Given the description of an element on the screen output the (x, y) to click on. 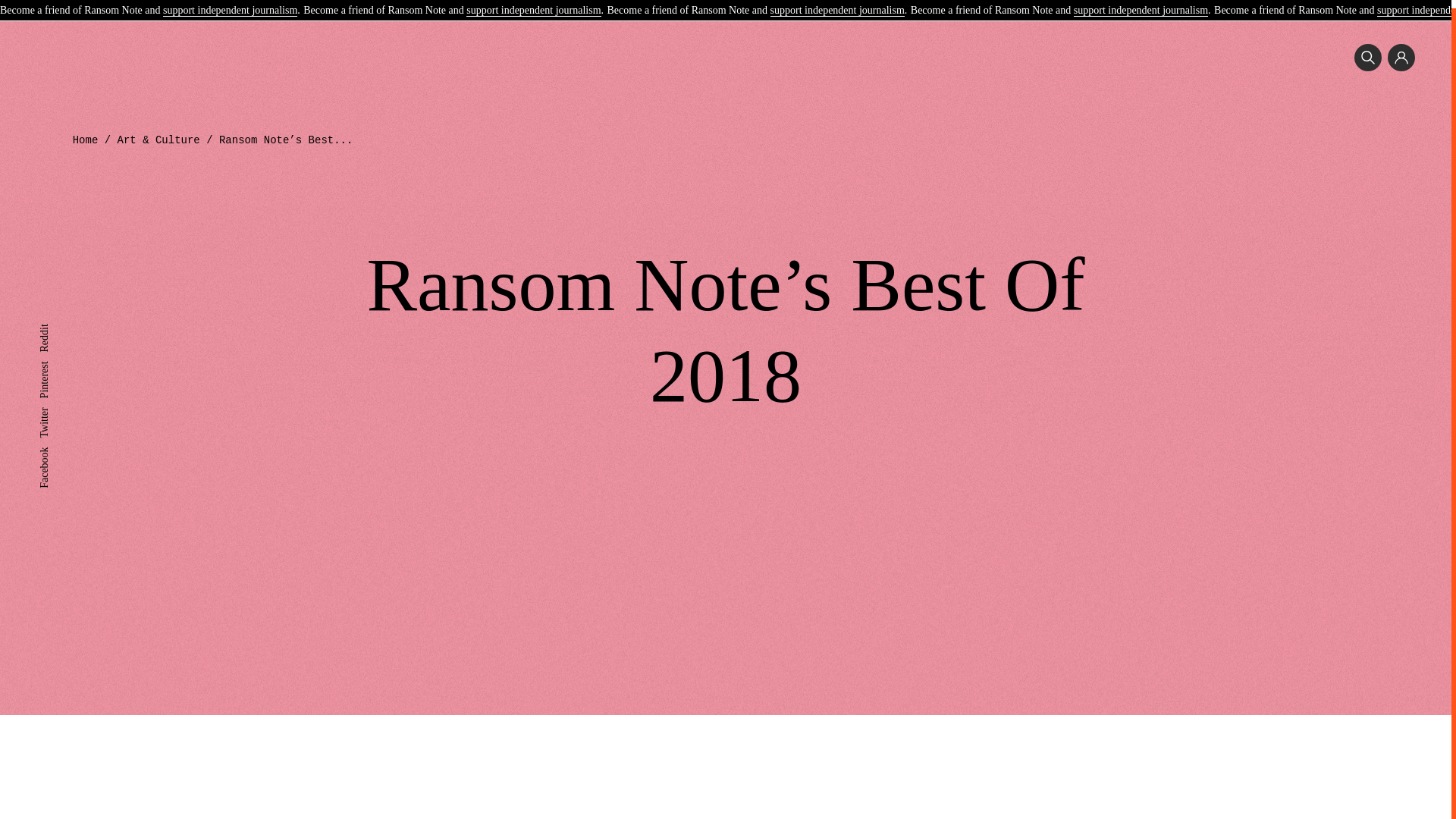
Pinterest (57, 358)
support independent journalism (837, 4)
Facebook (59, 444)
support independent journalism (230, 4)
support independent journalism (1141, 4)
Home (85, 140)
Reddit (52, 321)
Twitter (53, 404)
support independent journalism (532, 4)
